Given the description of an element on the screen output the (x, y) to click on. 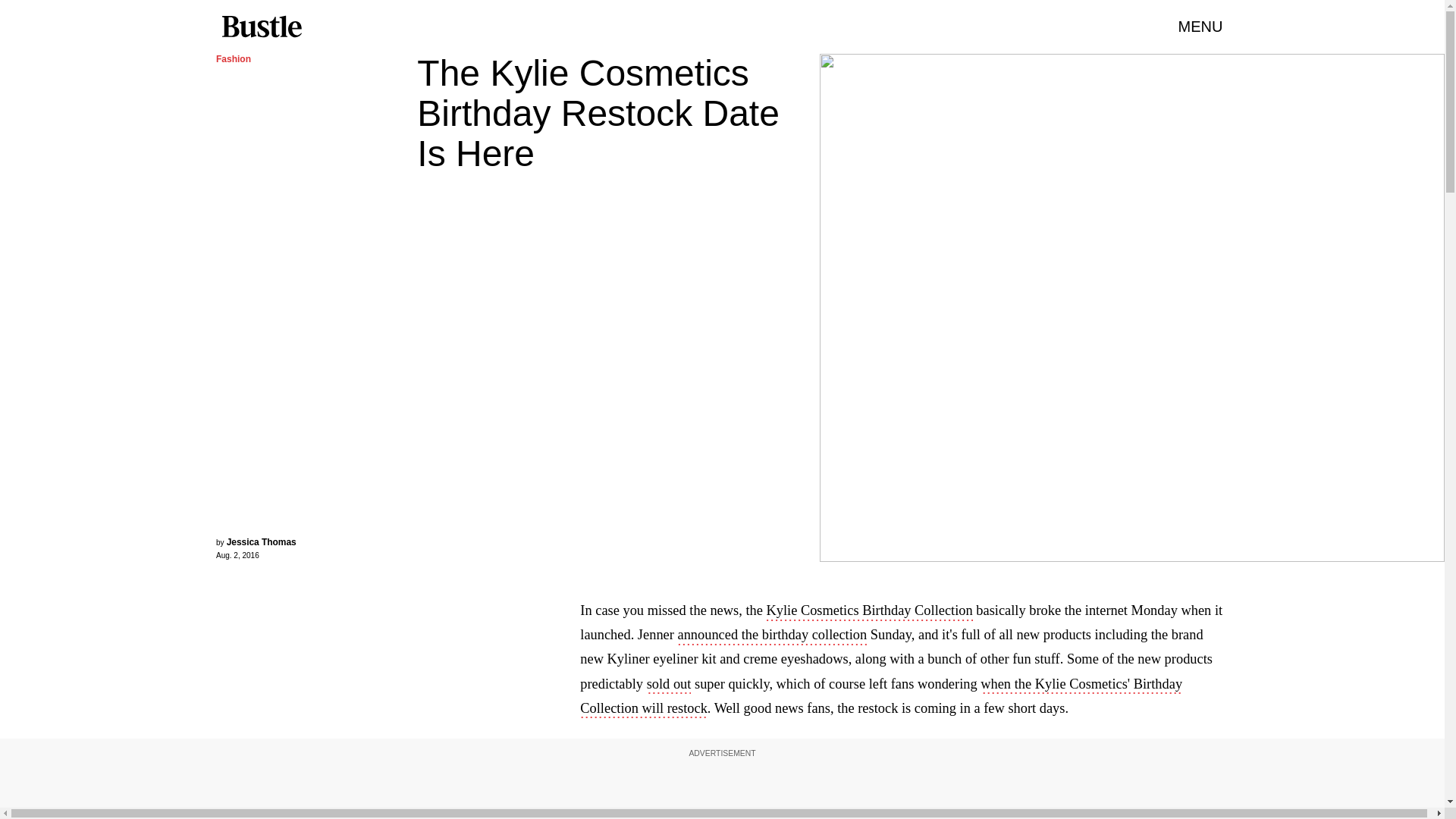
Kylie Cosmetics Birthday Collection (868, 611)
when the Kylie Cosmetics' Birthday Collection will restock (880, 697)
announced the birthday collection (771, 636)
sold out (668, 685)
Bustle (261, 26)
